Given the description of an element on the screen output the (x, y) to click on. 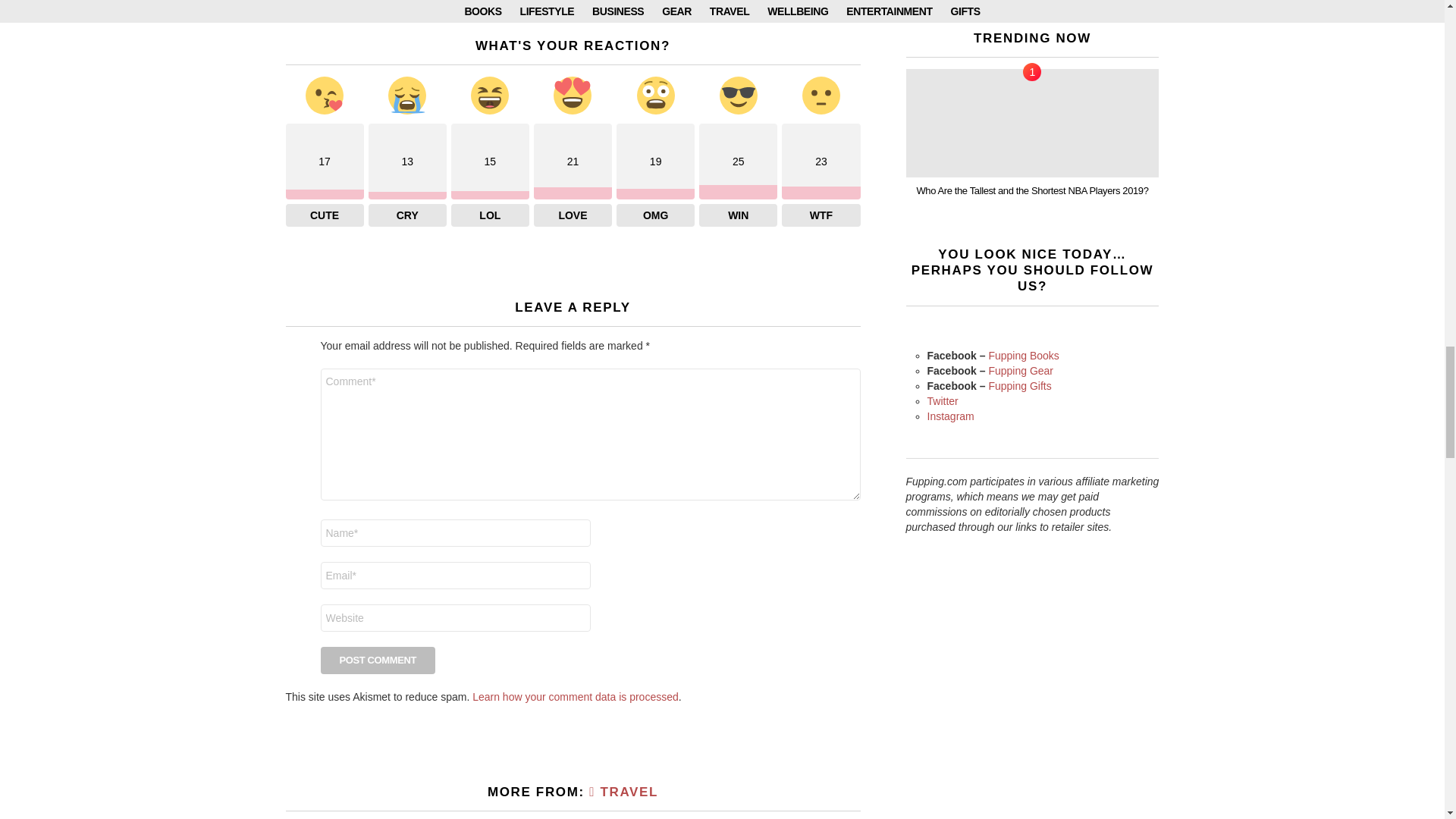
Post Comment (377, 660)
